Given the description of an element on the screen output the (x, y) to click on. 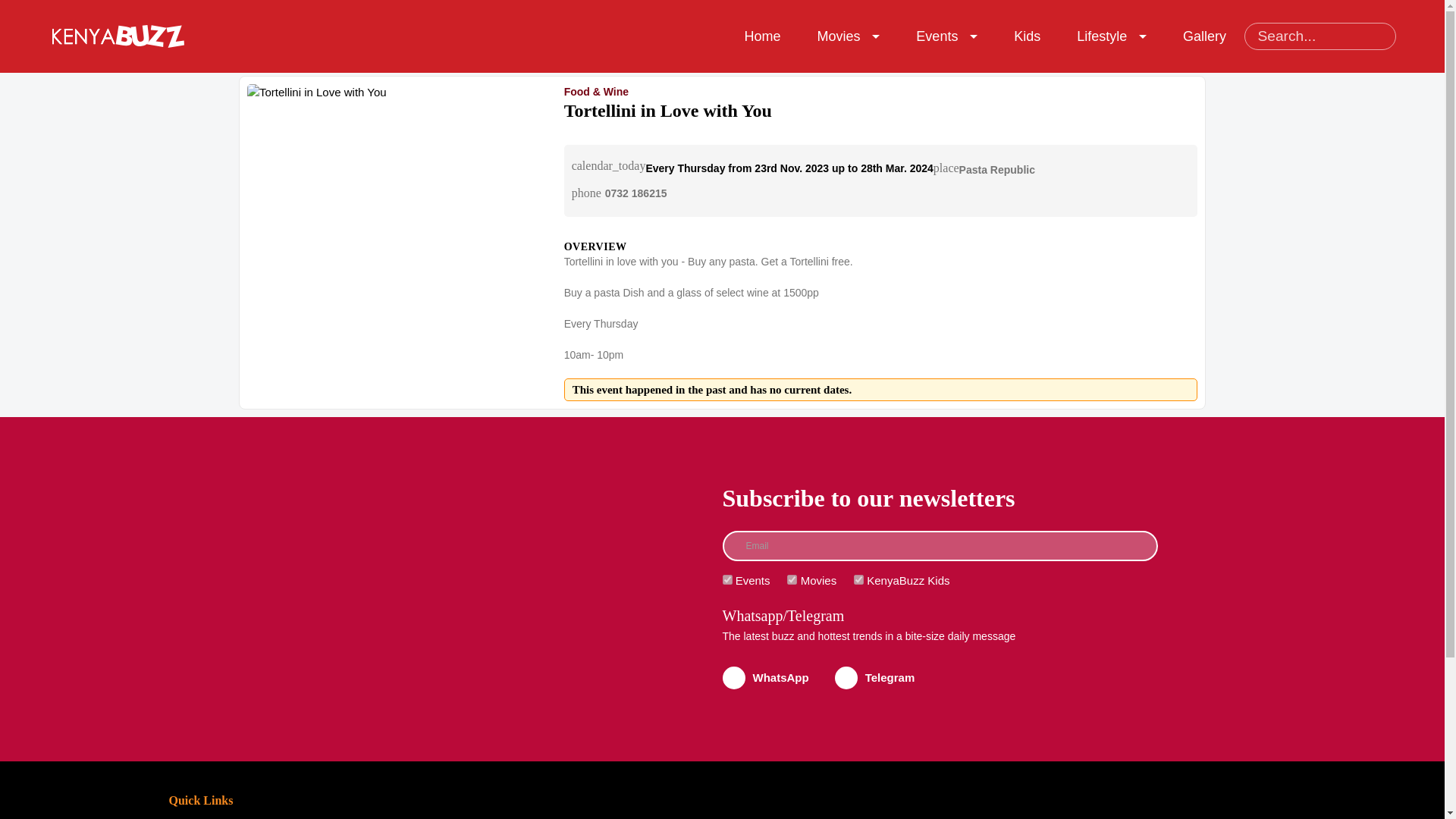
on (858, 579)
Movies (838, 35)
on (791, 579)
Events (936, 35)
on (727, 579)
Tortellini in Love with You (390, 92)
